Given the description of an element on the screen output the (x, y) to click on. 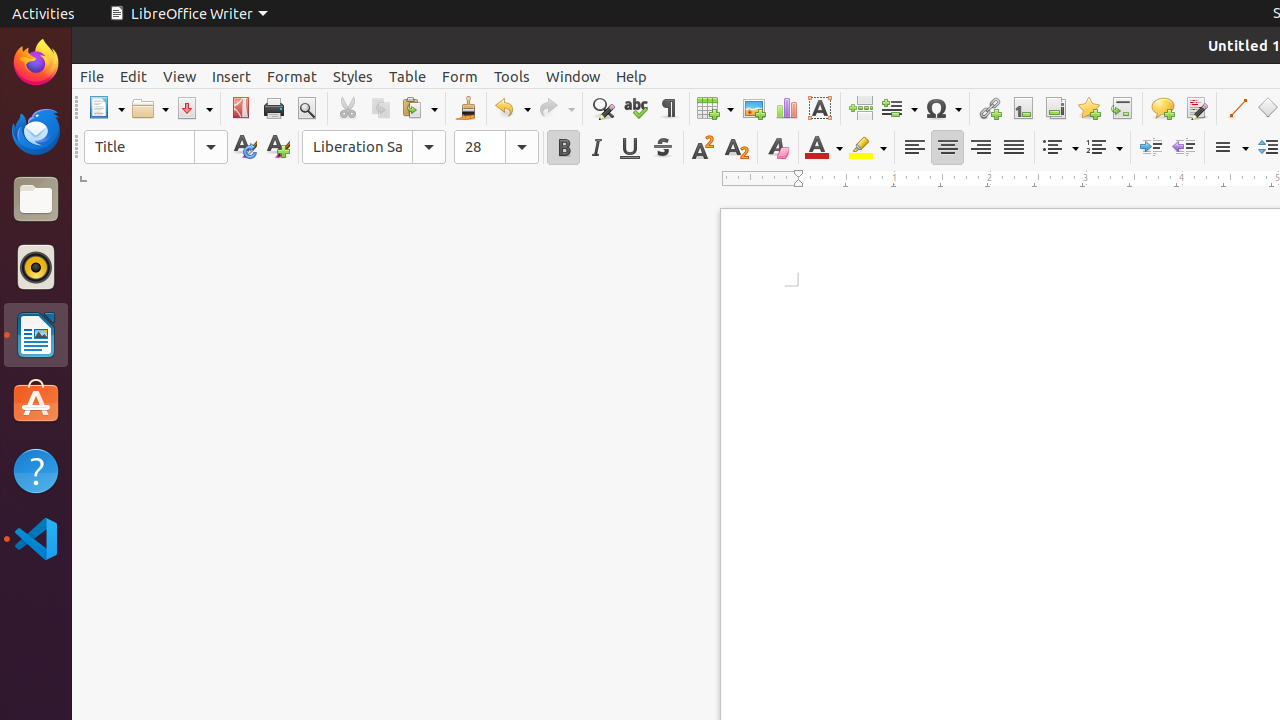
Strikethrough Element type: toggle-button (662, 147)
Tools Element type: menu (512, 76)
Spelling Element type: push-button (635, 108)
Highlight Color Element type: push-button (868, 147)
Styles Element type: menu (353, 76)
